Given the description of an element on the screen output the (x, y) to click on. 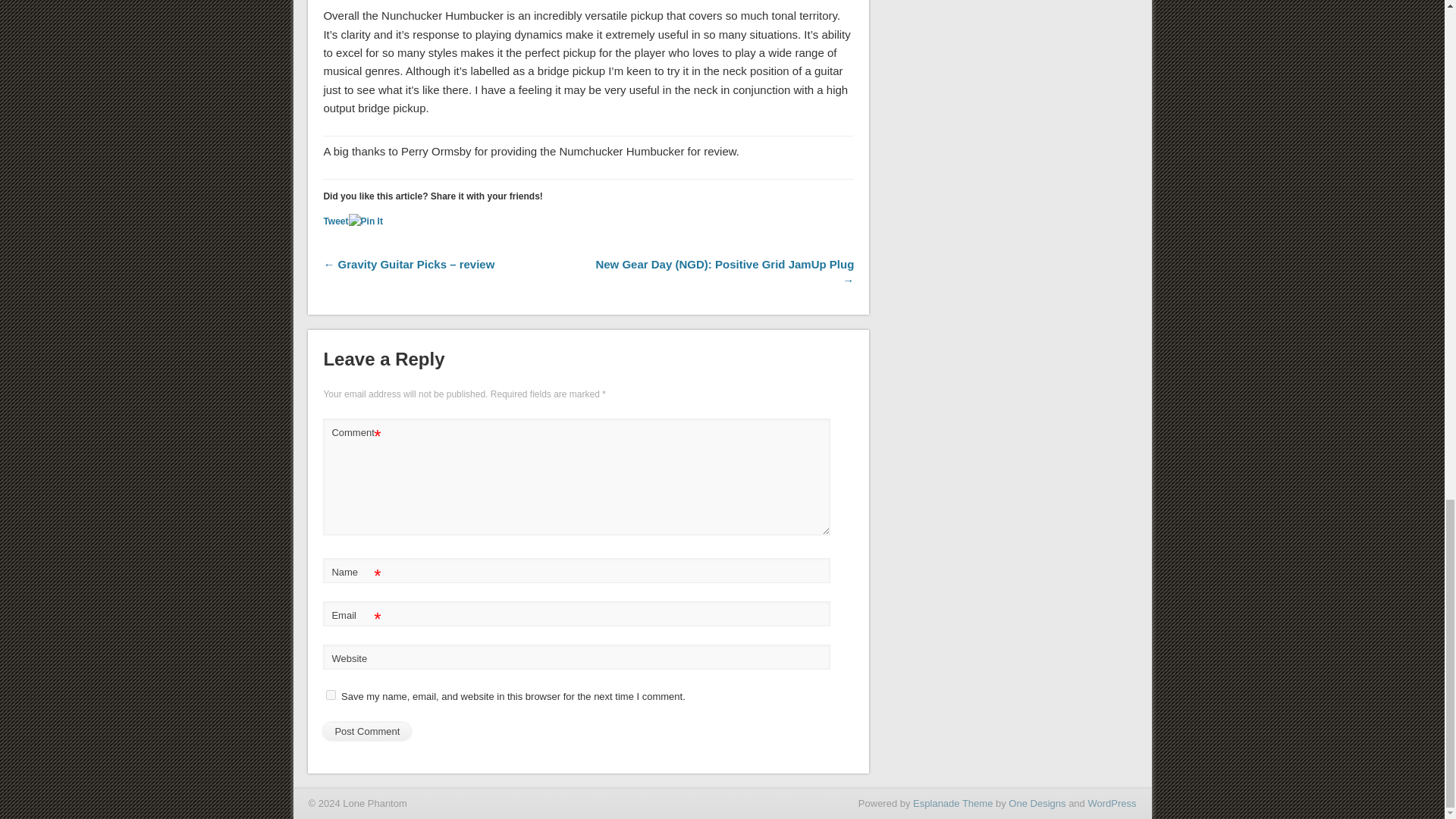
Tweet (335, 221)
Esplanade Theme (952, 803)
One Designs (1037, 803)
Post Comment (366, 731)
yes (331, 695)
Post Comment (366, 731)
WordPress (1111, 803)
Pin It (365, 221)
